Given the description of an element on the screen output the (x, y) to click on. 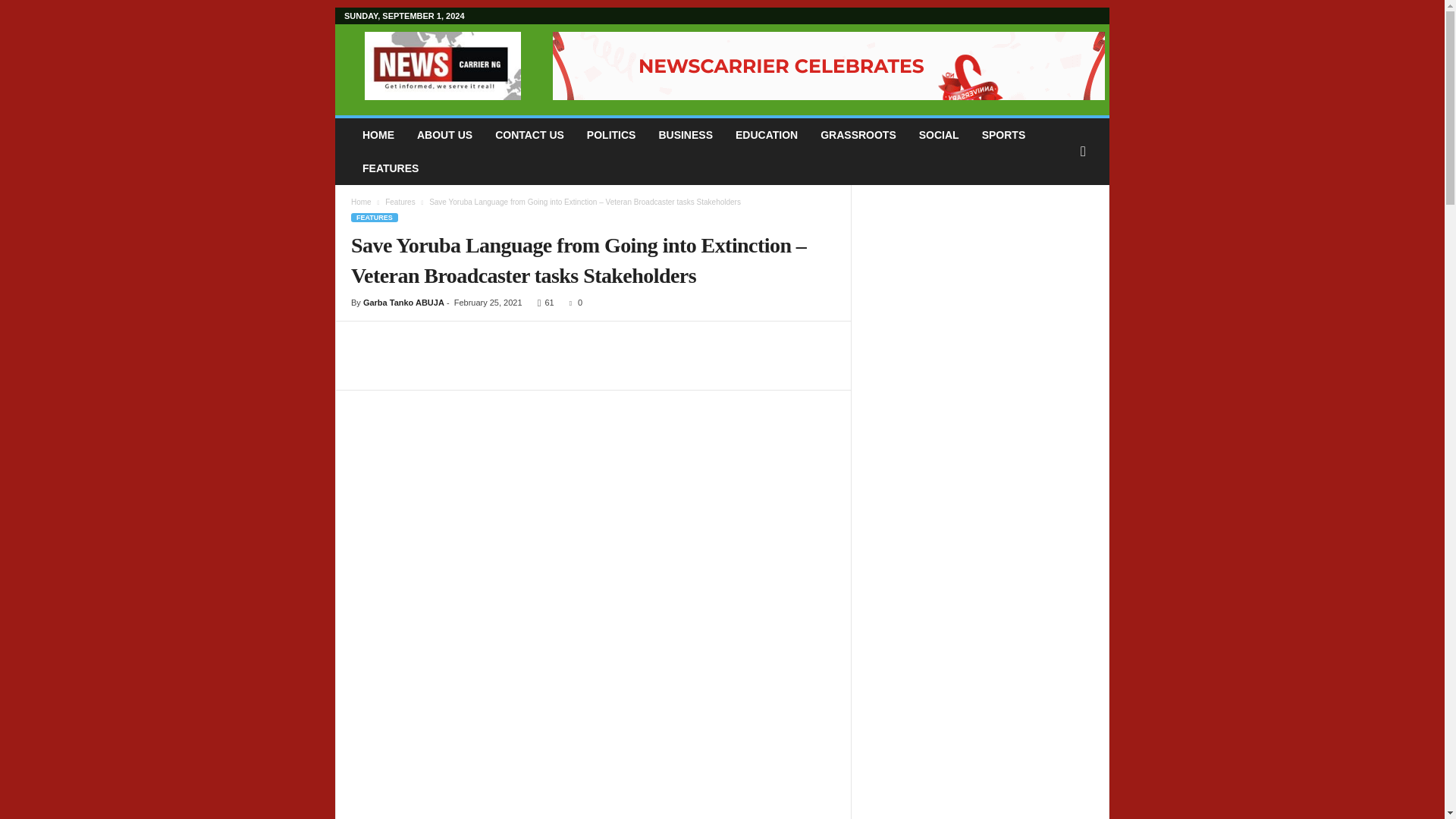
News Carrier (442, 65)
Home (360, 202)
FEATURES (389, 168)
SOCIAL (939, 134)
CONTACT US (529, 134)
SPORTS (1003, 134)
BUSINESS (684, 134)
View all posts in Features (399, 202)
EDUCATION (766, 134)
ABOUT US (444, 134)
